Given the description of an element on the screen output the (x, y) to click on. 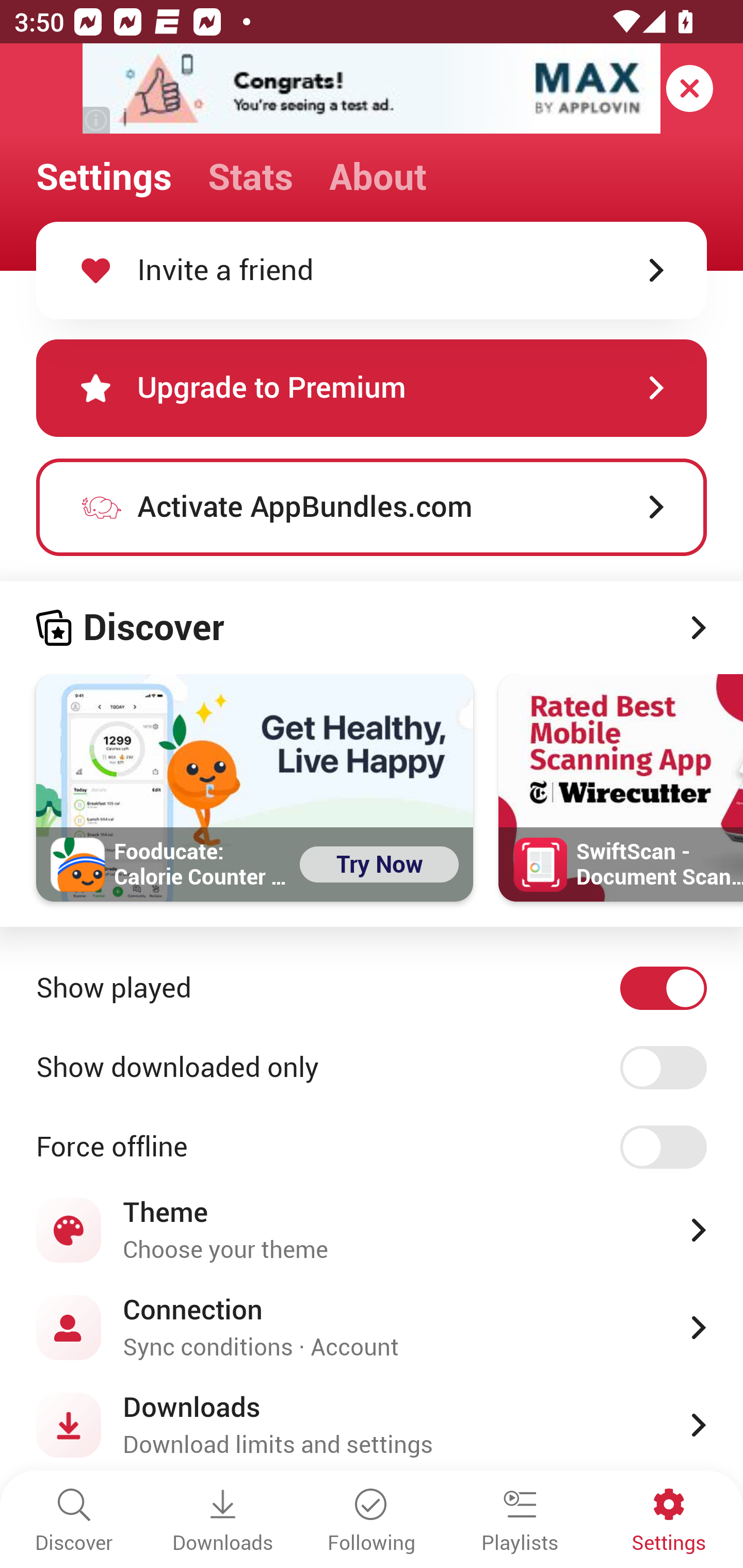
app-monetization (371, 88)
(i) (96, 119)
Settings (103, 177)
Stats (250, 177)
About (377, 177)
Invite a friend (371, 270)
Upgrade to Premium (371, 387)
Activate AppBundles.com (371, 506)
Discover (371, 627)
Fooducate: Calorie Counter & Diet Tracker Try Now (254, 787)
SwiftScan - Document Scanner & PDF Editor (620, 787)
Try Now (378, 864)
Show played (371, 987)
Show downloaded only (371, 1067)
Force offline (371, 1147)
Theme Choose your theme (371, 1229)
Connection Sync conditions · Account (371, 1327)
Downloads Download limits and settings (371, 1425)
Discover (74, 1521)
Downloads (222, 1521)
Following (371, 1521)
Playlists (519, 1521)
Settings (668, 1521)
